Given the description of an element on the screen output the (x, y) to click on. 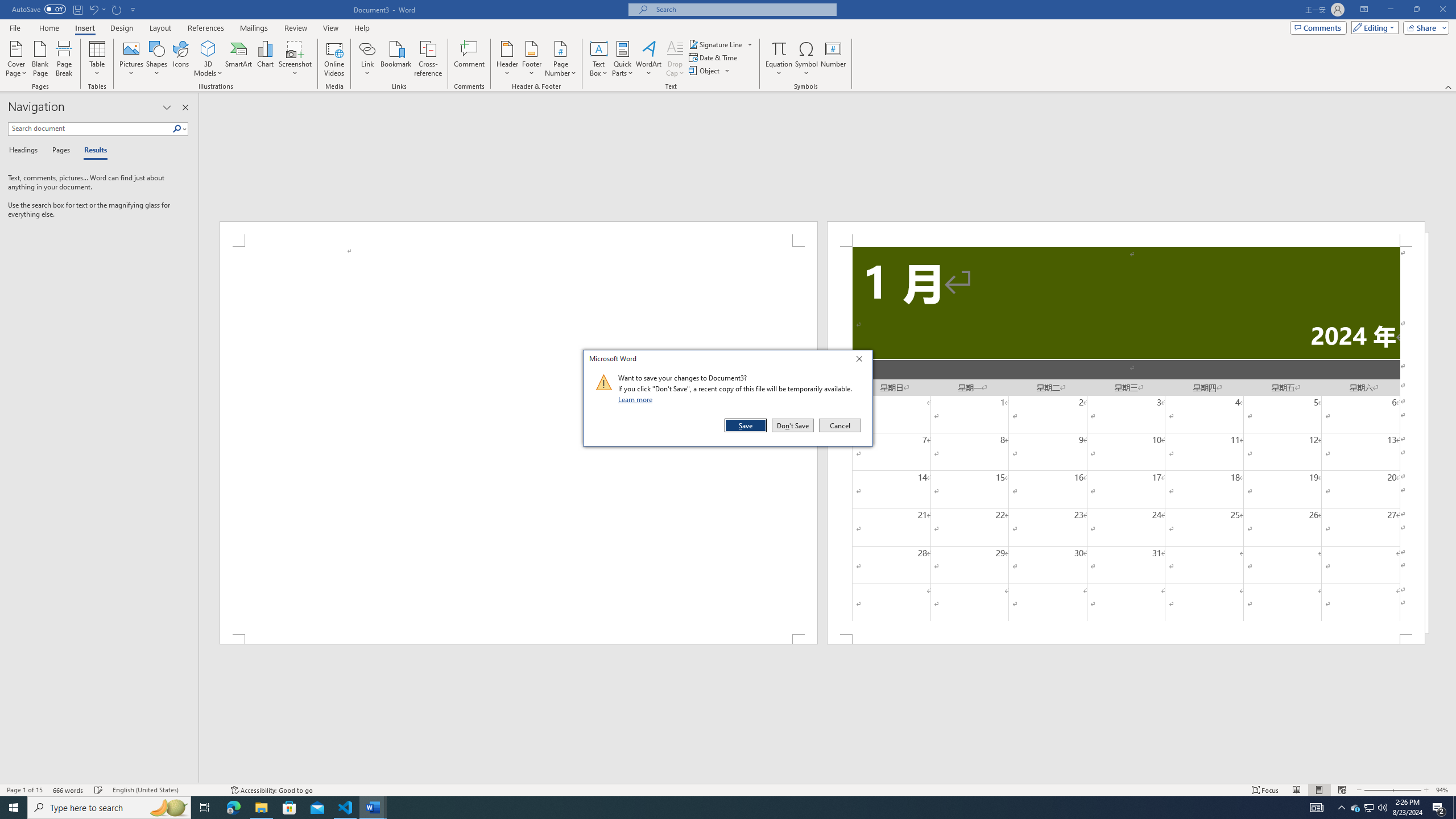
Online Videos... (333, 58)
Header (507, 58)
Quick Parts (622, 58)
Date & Time... (714, 56)
Microsoft Edge (233, 807)
